Given the description of an element on the screen output the (x, y) to click on. 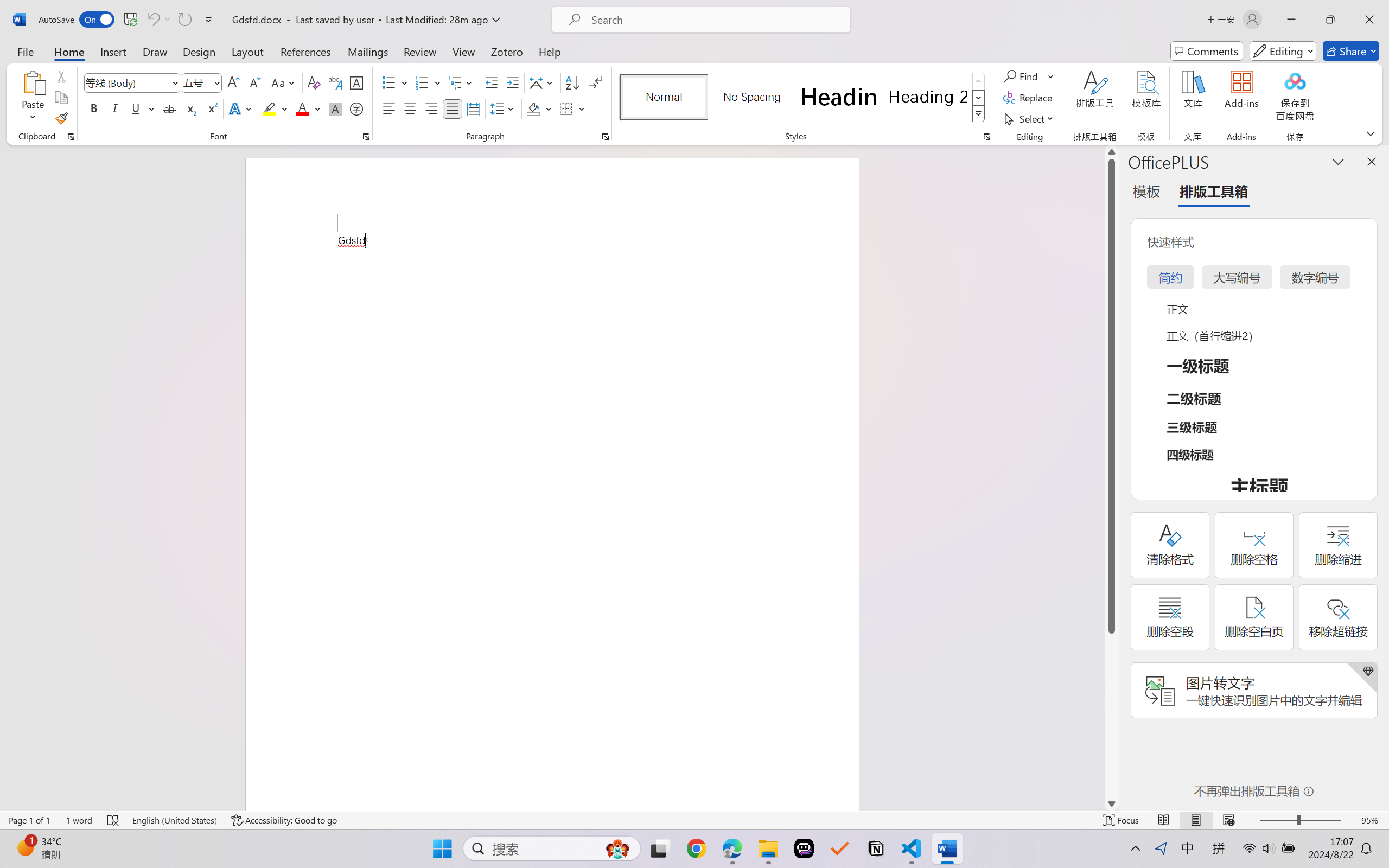
Zoom 95% (1372, 819)
Line up (1111, 151)
